Given the description of an element on the screen output the (x, y) to click on. 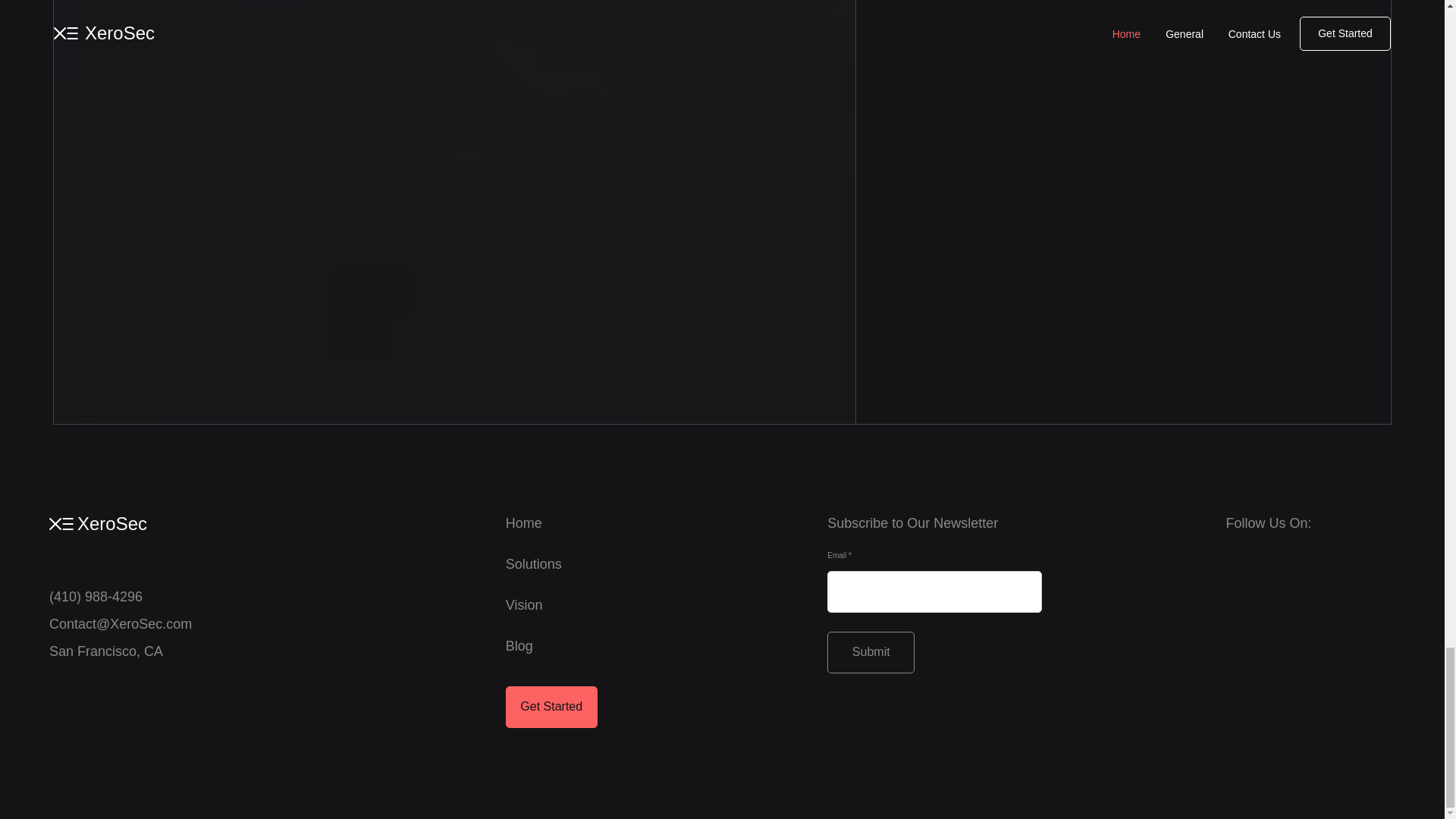
Submit (870, 652)
Home (523, 522)
Vision (524, 604)
Solutions (533, 563)
Get Started (550, 707)
XeroSec (112, 523)
Blog (518, 645)
